Given the description of an element on the screen output the (x, y) to click on. 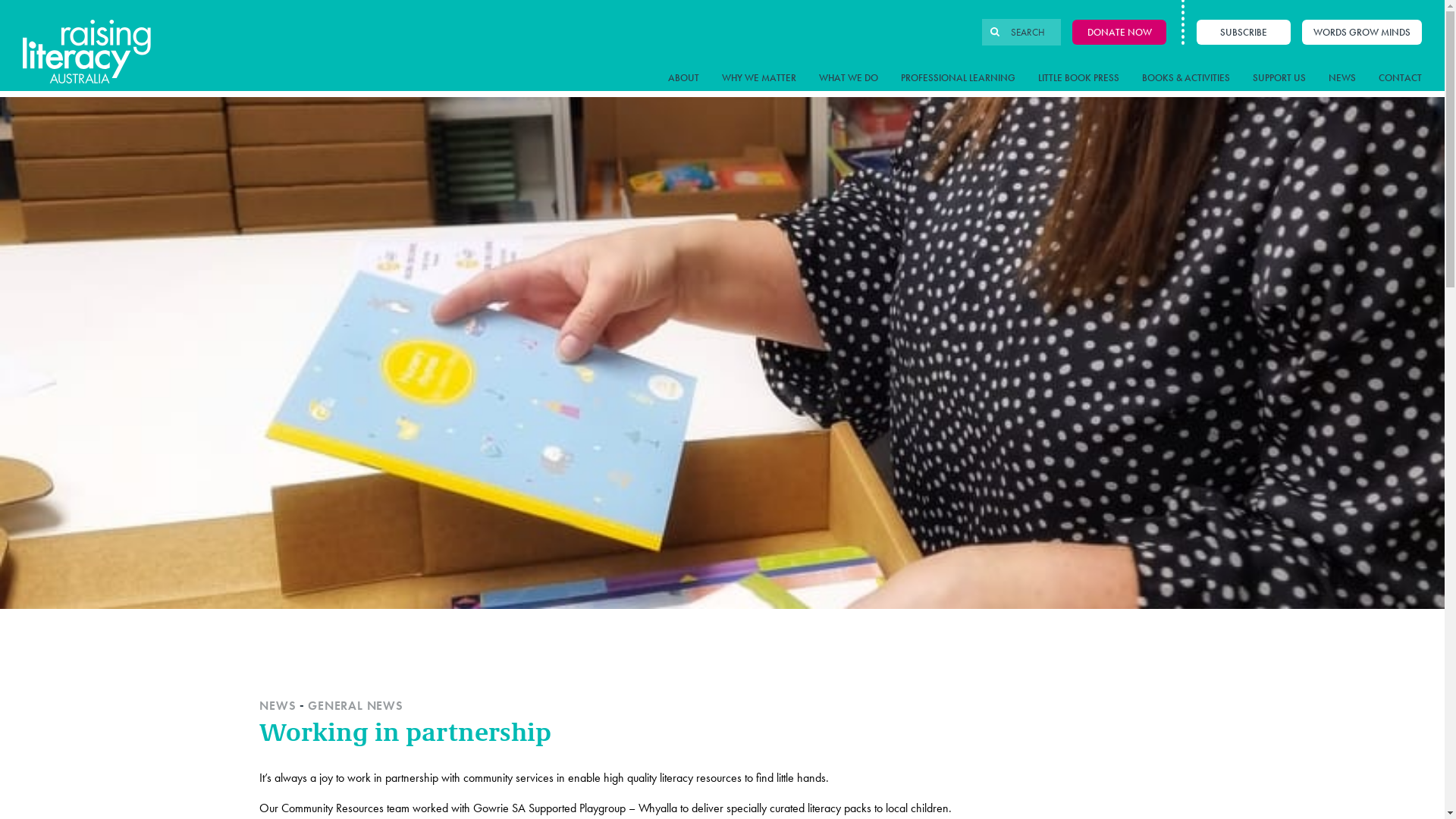
DONATE NOW Element type: text (1119, 32)
WHY WE MATTER Element type: text (758, 77)
GENERAL NEWS Element type: text (355, 705)
WHAT WE DO Element type: text (848, 77)
SUBSCRIBE Element type: text (1243, 32)
Raising Literacy Element type: text (86, 47)
LITTLE BOOK PRESS Element type: text (1078, 77)
WORDS GROW MINDS Element type: text (1361, 32)
CONTACT Element type: text (1399, 77)
BOOKS & ACTIVITIES Element type: text (1186, 77)
PROFESSIONAL LEARNING Element type: text (957, 77)
NEWS Element type: text (277, 705)
ABOUT Element type: text (683, 77)
NEWS Element type: text (1341, 77)
SUPPORT US Element type: text (1278, 77)
